Given the description of an element on the screen output the (x, y) to click on. 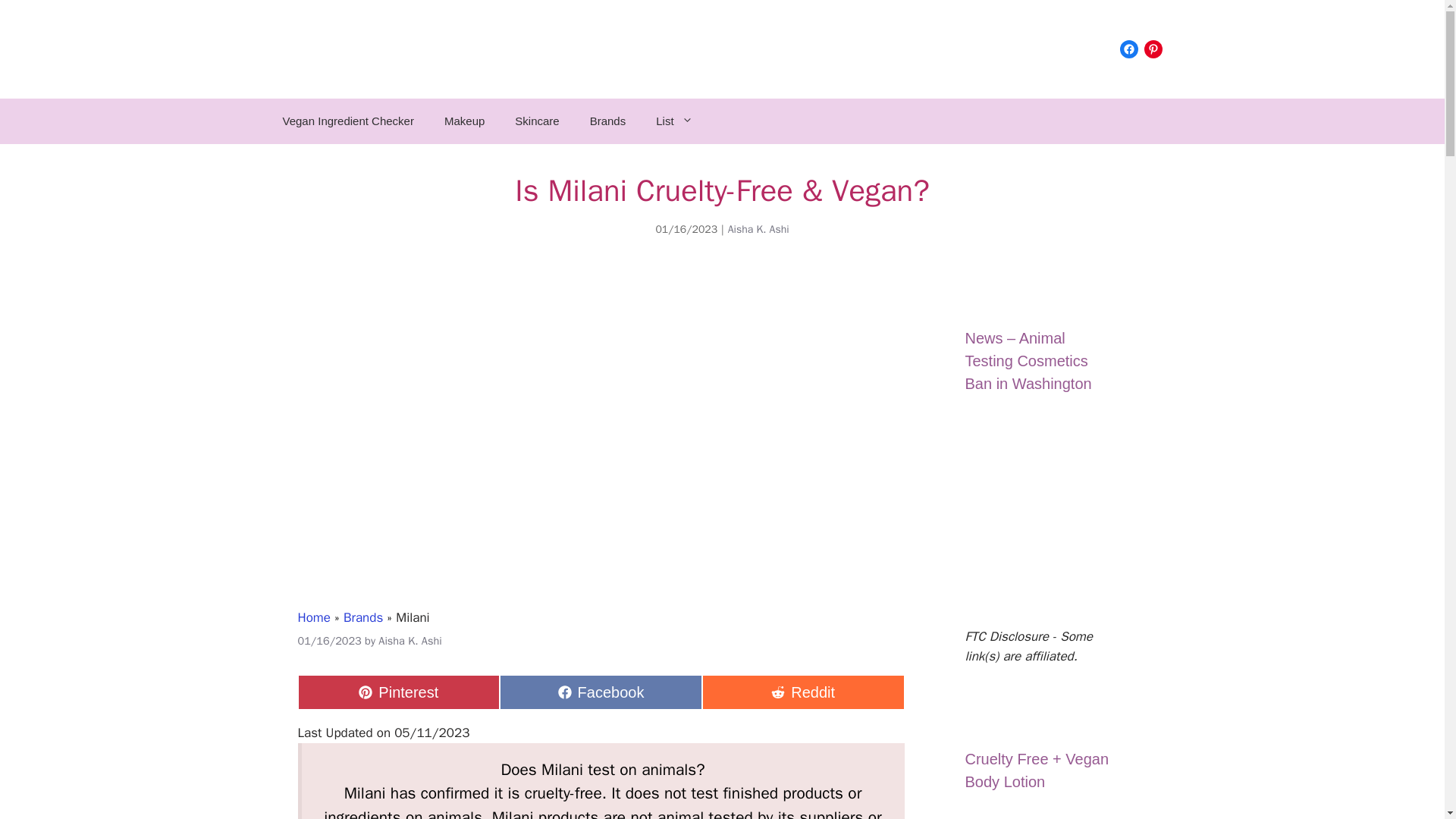
Pinterest (398, 692)
Facebook (1151, 49)
Brands (802, 692)
View all posts by Aisha K. Ashi (600, 692)
Home (1128, 49)
Skincare (608, 121)
Brands (409, 640)
